Given the description of an element on the screen output the (x, y) to click on. 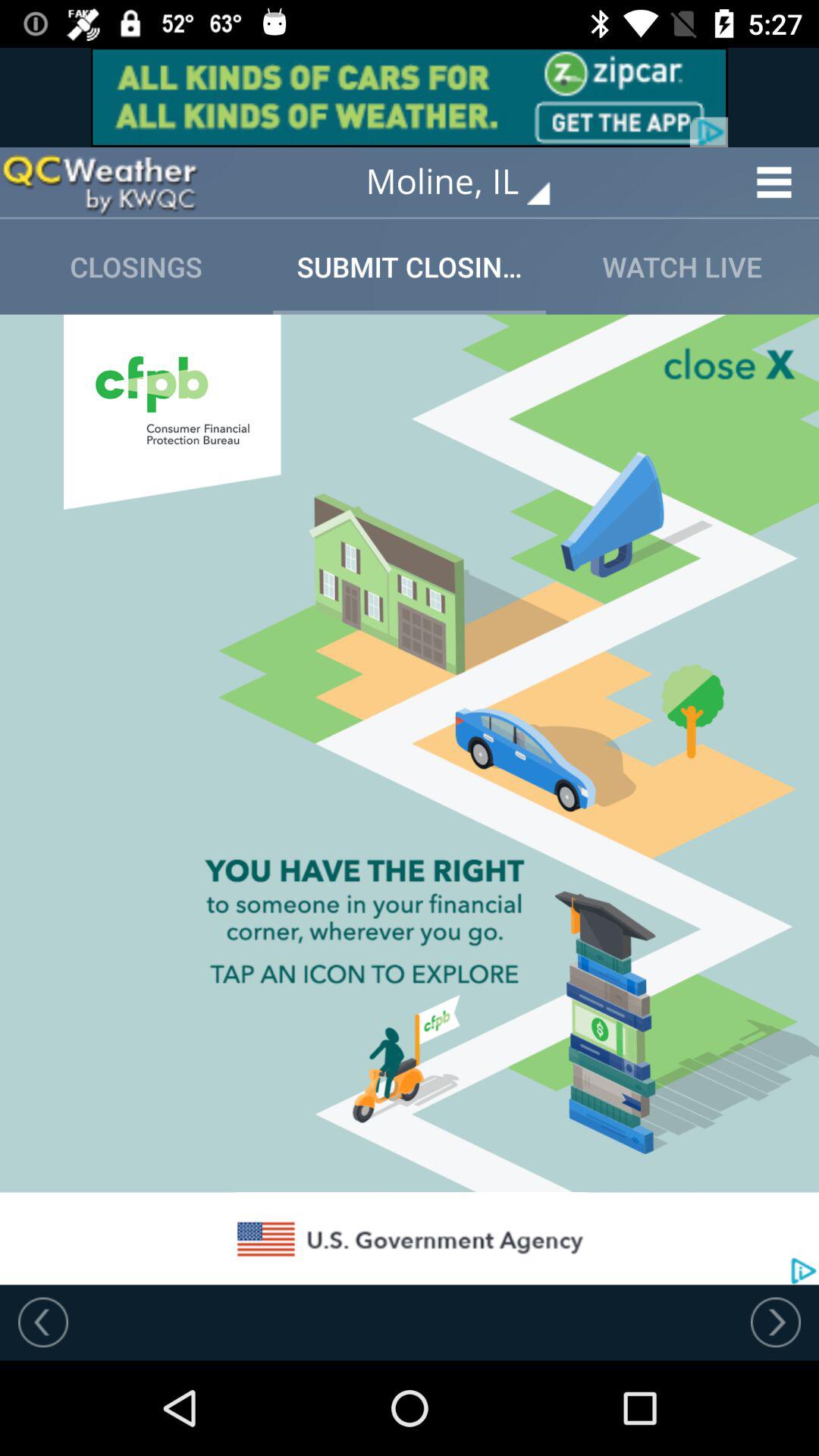
click on weather option (99, 182)
